Given the description of an element on the screen output the (x, y) to click on. 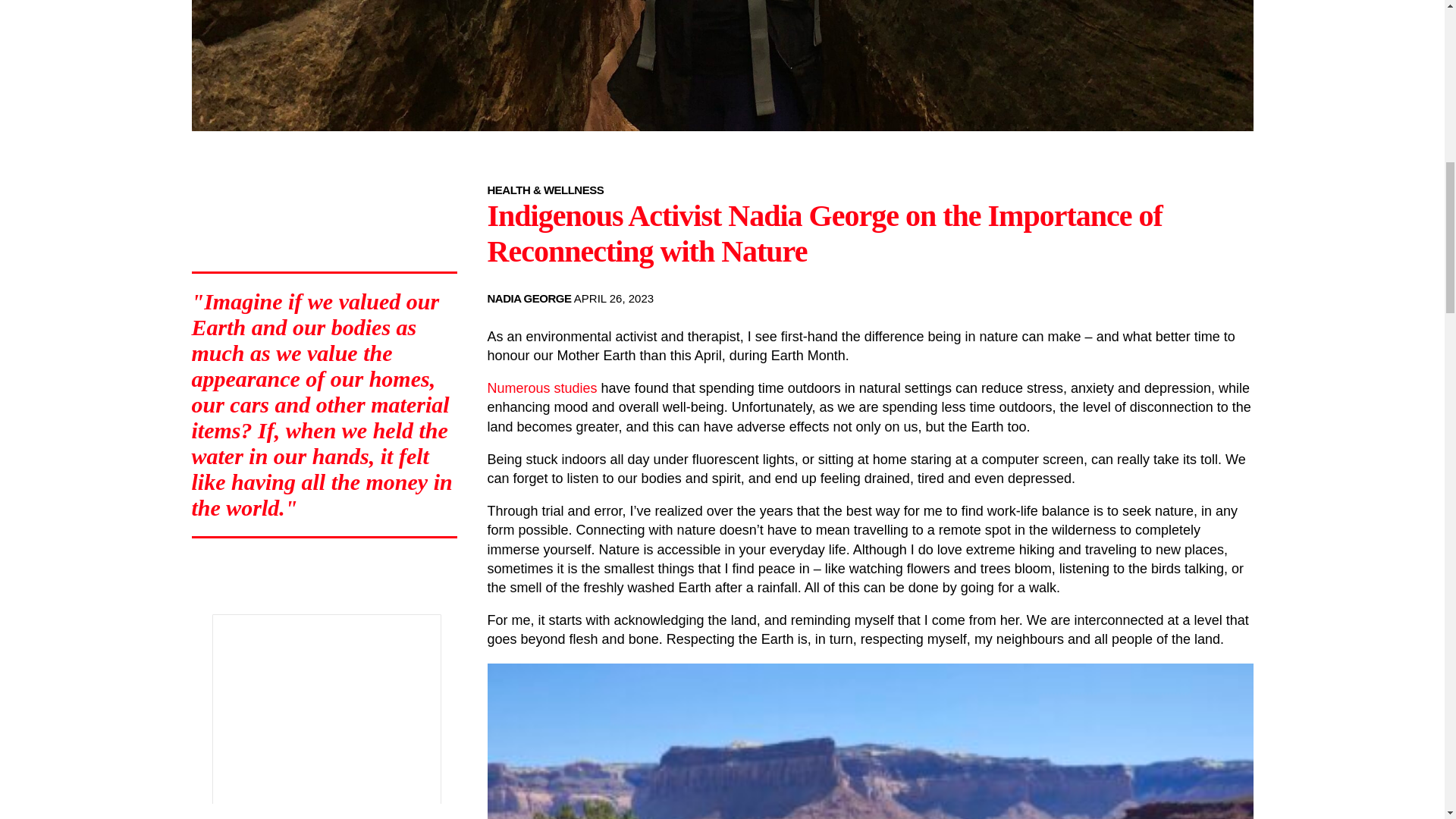
Numerous studies (541, 387)
